Given the description of an element on the screen output the (x, y) to click on. 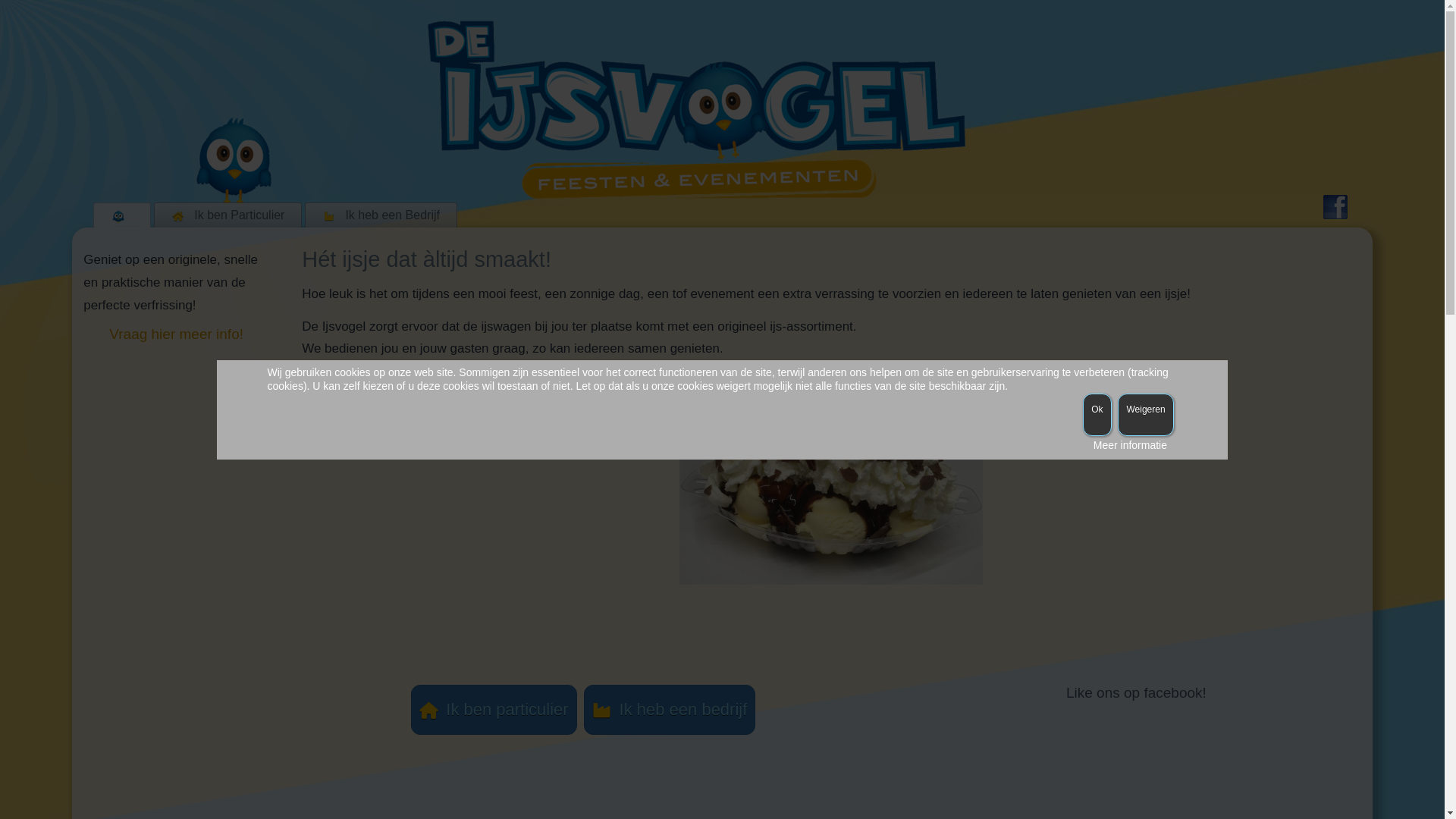
Ik heb een bedrijf Element type: text (669, 709)
Ik ben Particulier Element type: text (227, 214)
Ok Element type: text (1096, 413)
Meer informatie Element type: text (1130, 443)
Weigeren Element type: text (1145, 413)
Ik heb een Bedrijf Element type: text (380, 214)
Volg ons via onze facebookpagina! Element type: hover (1335, 206)
Vraag hier meer info! Element type: text (176, 334)
Ik ben particulier Element type: text (494, 709)
